Given the description of an element on the screen output the (x, y) to click on. 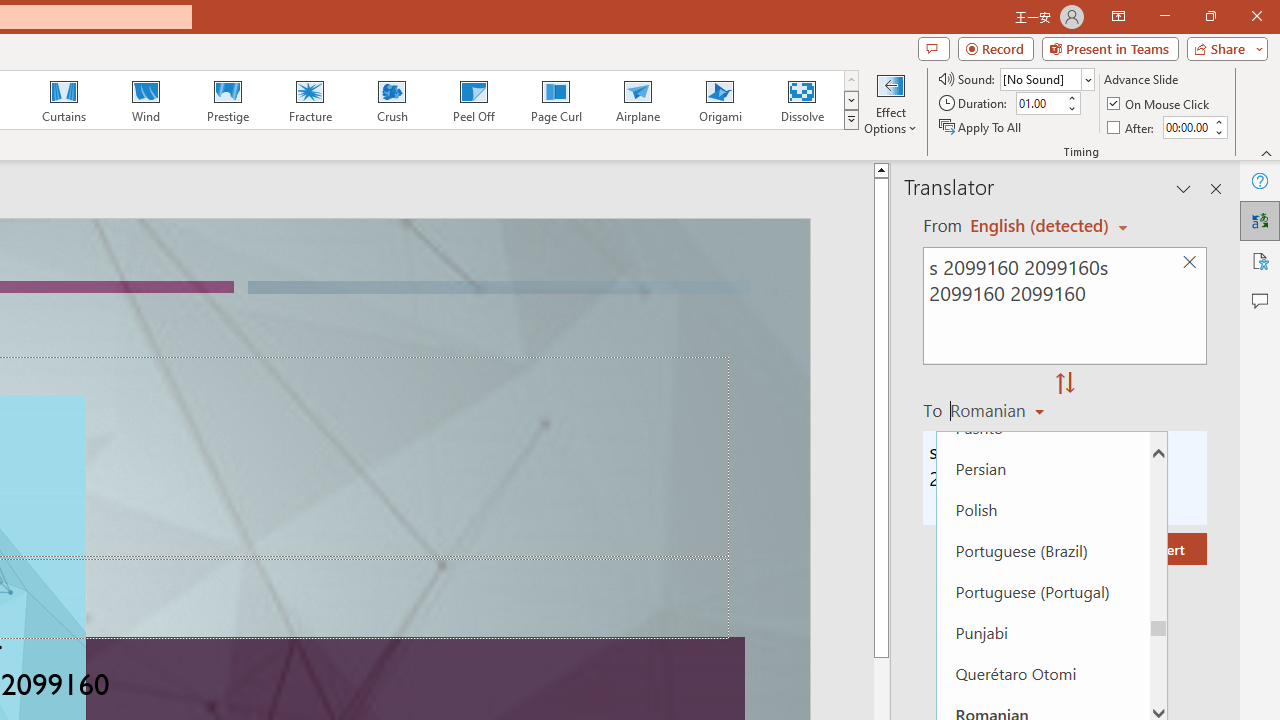
Dissolve (802, 100)
Peel Off (473, 100)
Airplane (637, 100)
Sound (1046, 78)
After (1186, 127)
Czech (detected) (1039, 225)
